Given the description of an element on the screen output the (x, y) to click on. 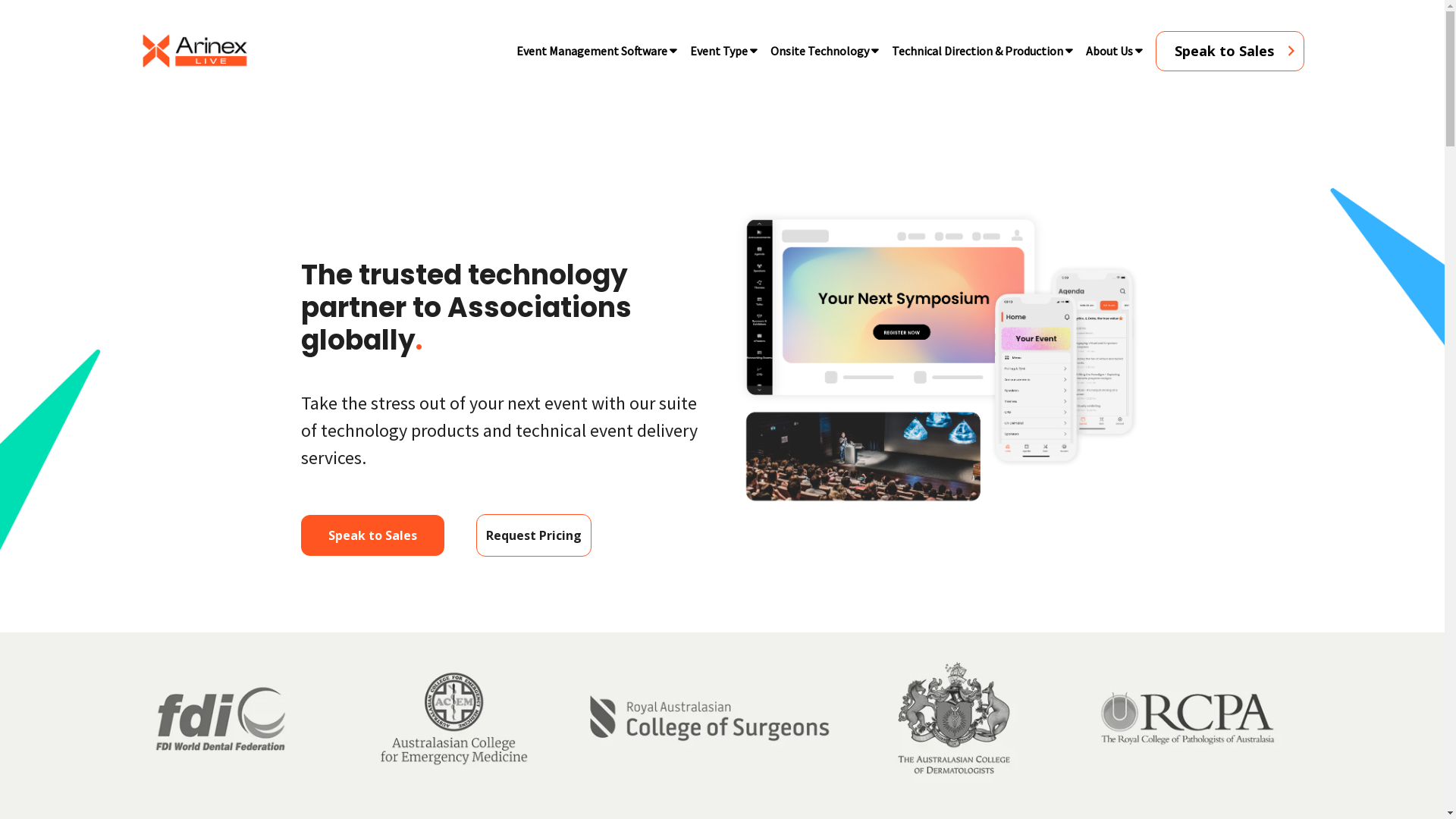
Event Type Element type: text (717, 50)
JOYN event technology  Element type: hover (938, 357)
Technical Direction & Production Element type: text (976, 50)
About Us Element type: text (1108, 50)
Onsite Technology Element type: text (818, 50)
Request Pricing Element type: text (533, 535)
Event Management Software Element type: text (591, 50)
Speak to Sales Element type: text (372, 534)
Speak to Sales Element type: text (1229, 50)
